Given the description of an element on the screen output the (x, y) to click on. 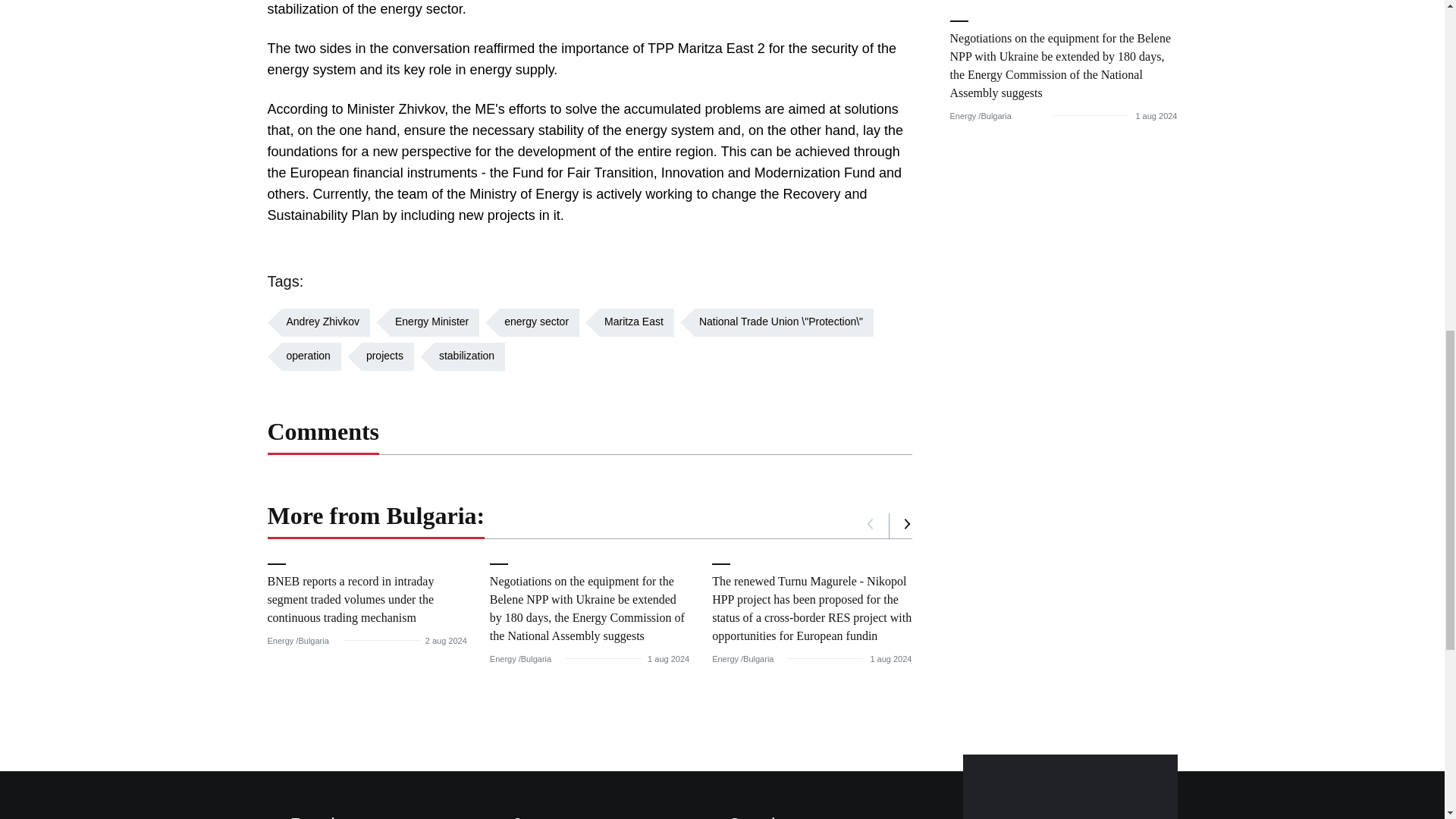
stabilization (462, 357)
Maritza East (629, 322)
projects (380, 357)
Energy Minister (427, 322)
Andrey Zhivkov (317, 322)
energy sector (531, 322)
operation (303, 357)
